Given the description of an element on the screen output the (x, y) to click on. 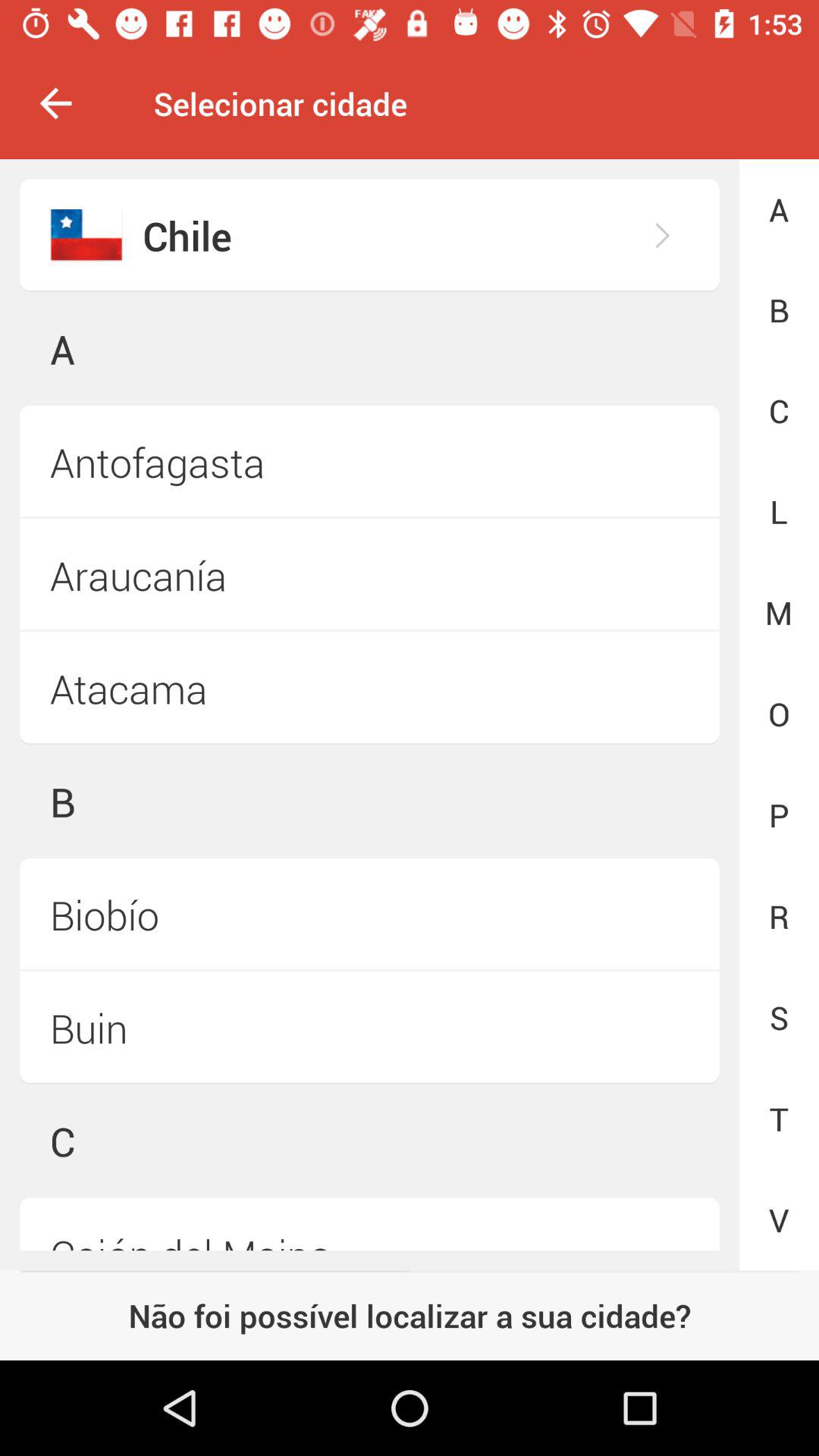
turn off the icon to the left of selecionar cidade icon (55, 103)
